Given the description of an element on the screen output the (x, y) to click on. 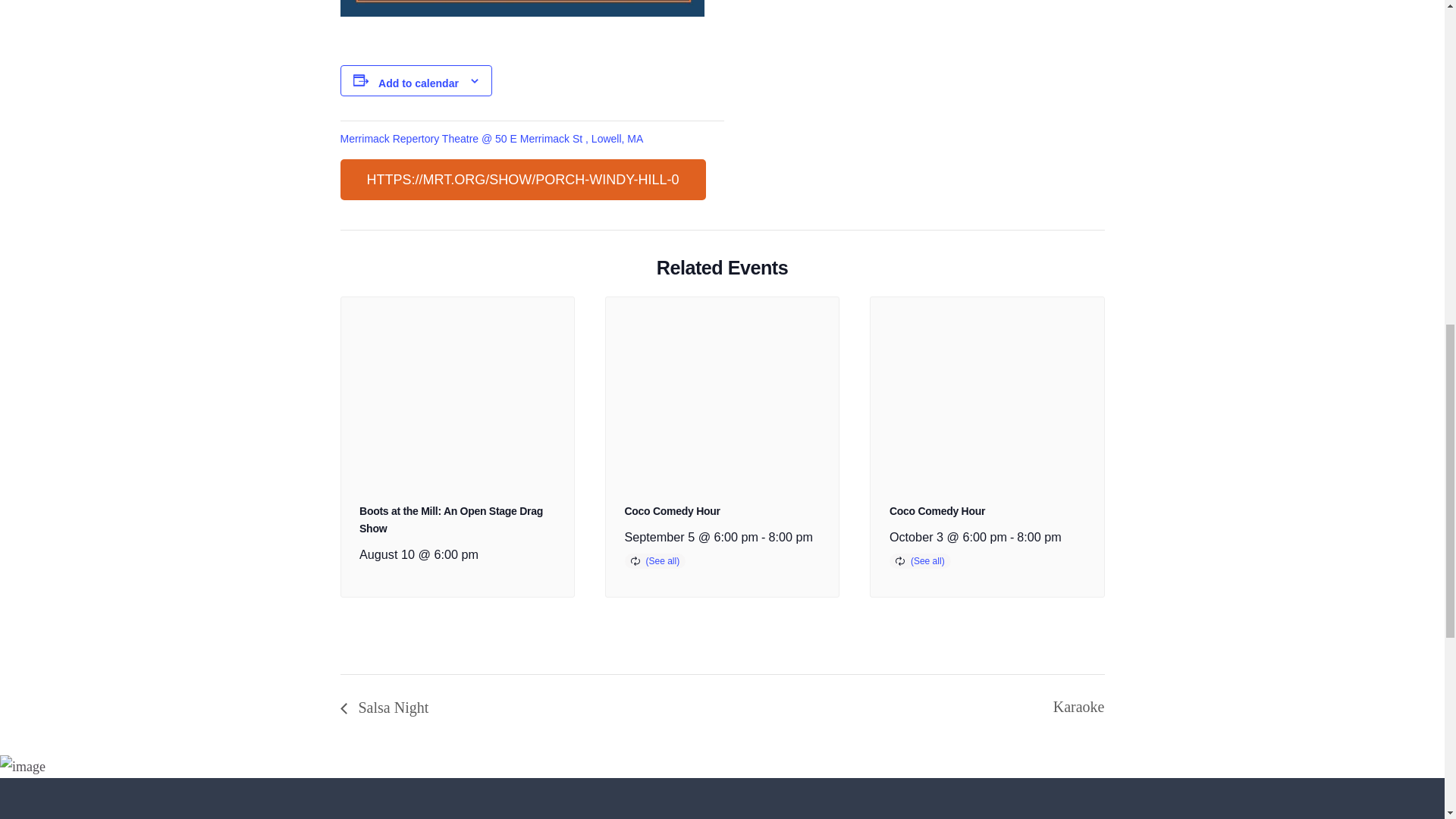
Add to calendar (418, 82)
Coco Comedy Hour (672, 510)
Boots at the Mill: An Open Stage Drag Show (451, 519)
